Given the description of an element on the screen output the (x, y) to click on. 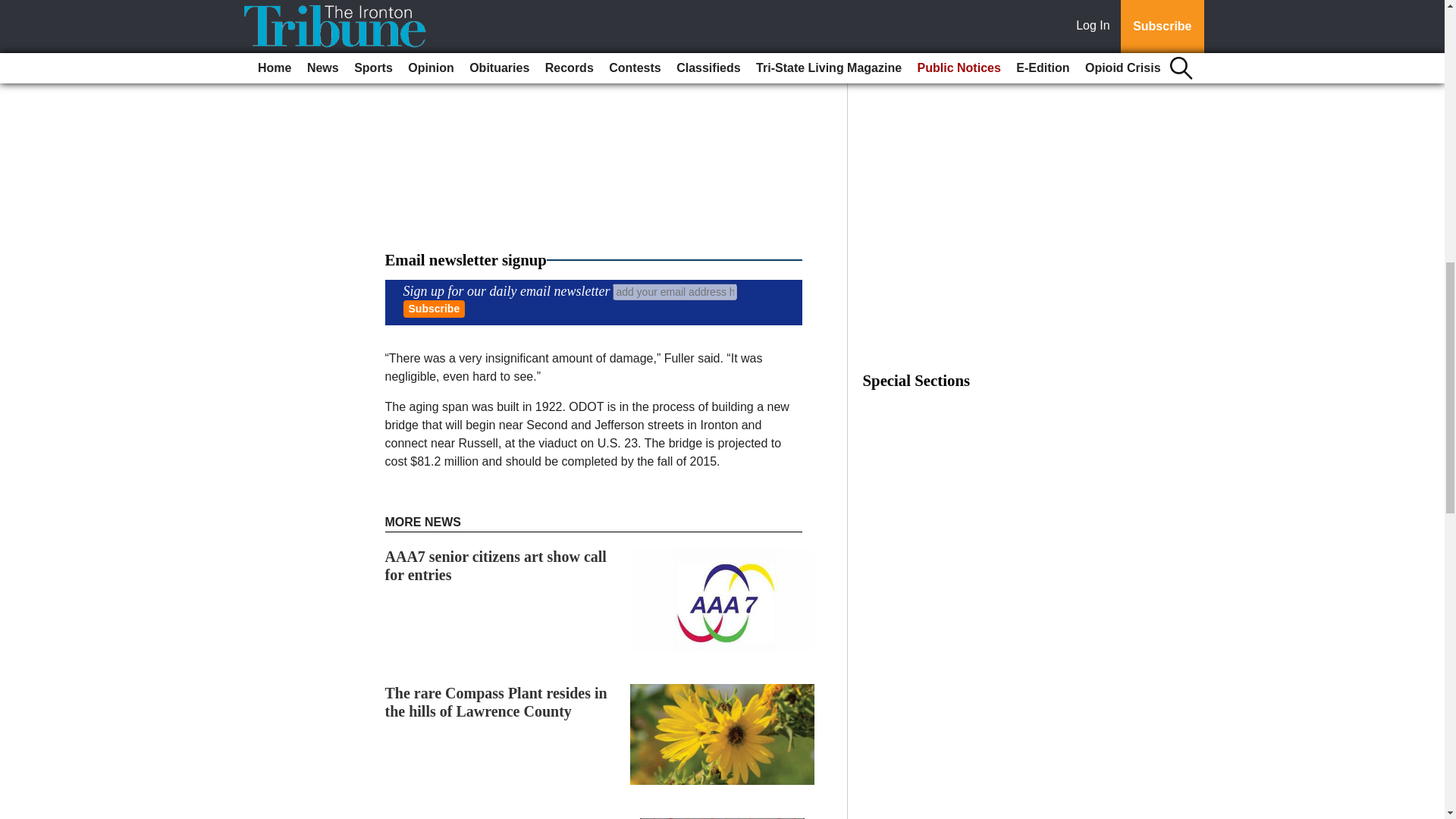
Subscribe (434, 308)
AAA7 senior citizens art show call for entries (496, 565)
Subscribe (434, 308)
AAA7 senior citizens art show call for entries (496, 565)
